Given the description of an element on the screen output the (x, y) to click on. 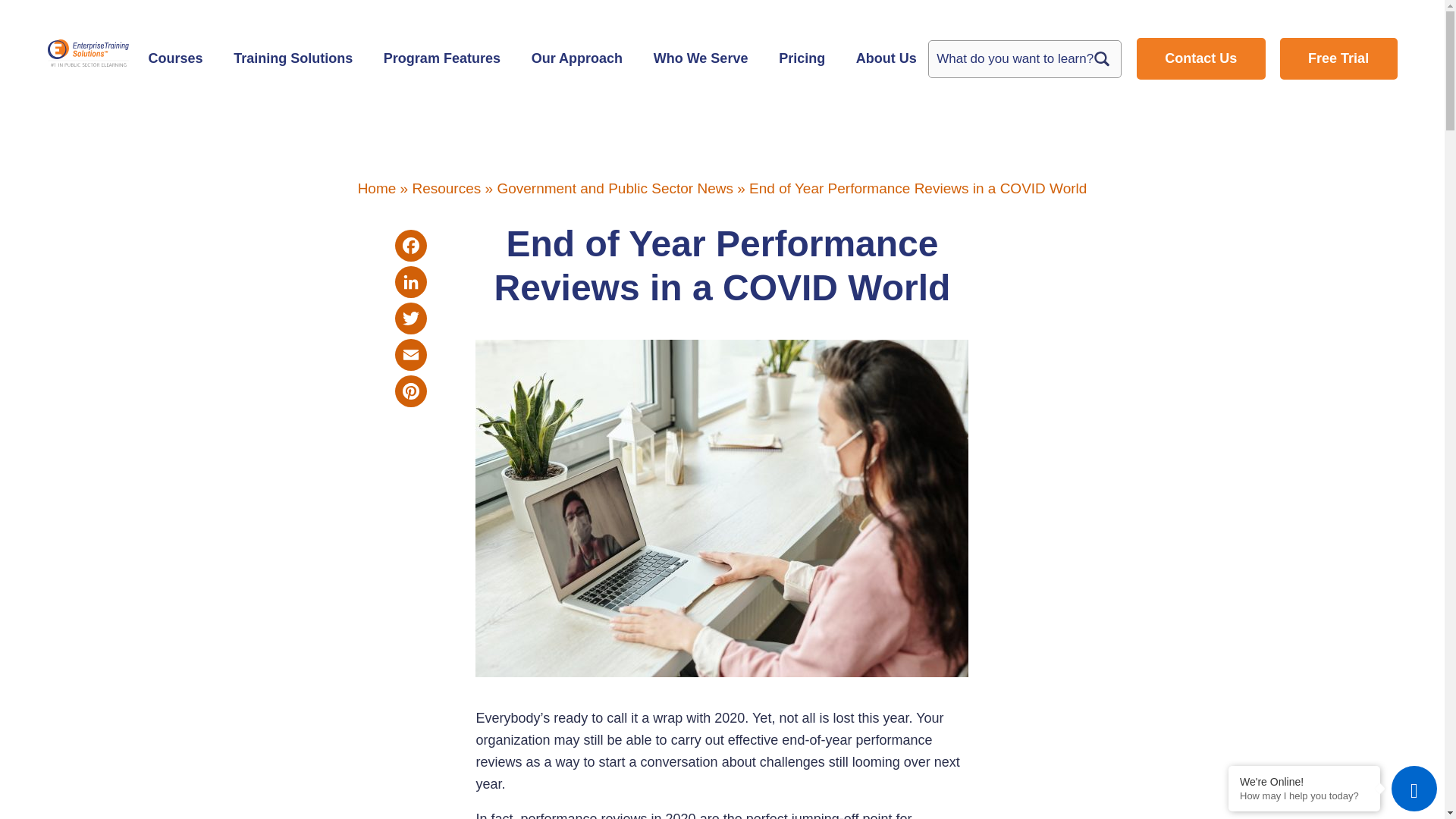
Twitter (410, 318)
Facebook (410, 245)
LinkedIn (410, 282)
Email (410, 355)
Courses (175, 58)
Pinterest (410, 391)
